Given the description of an element on the screen output the (x, y) to click on. 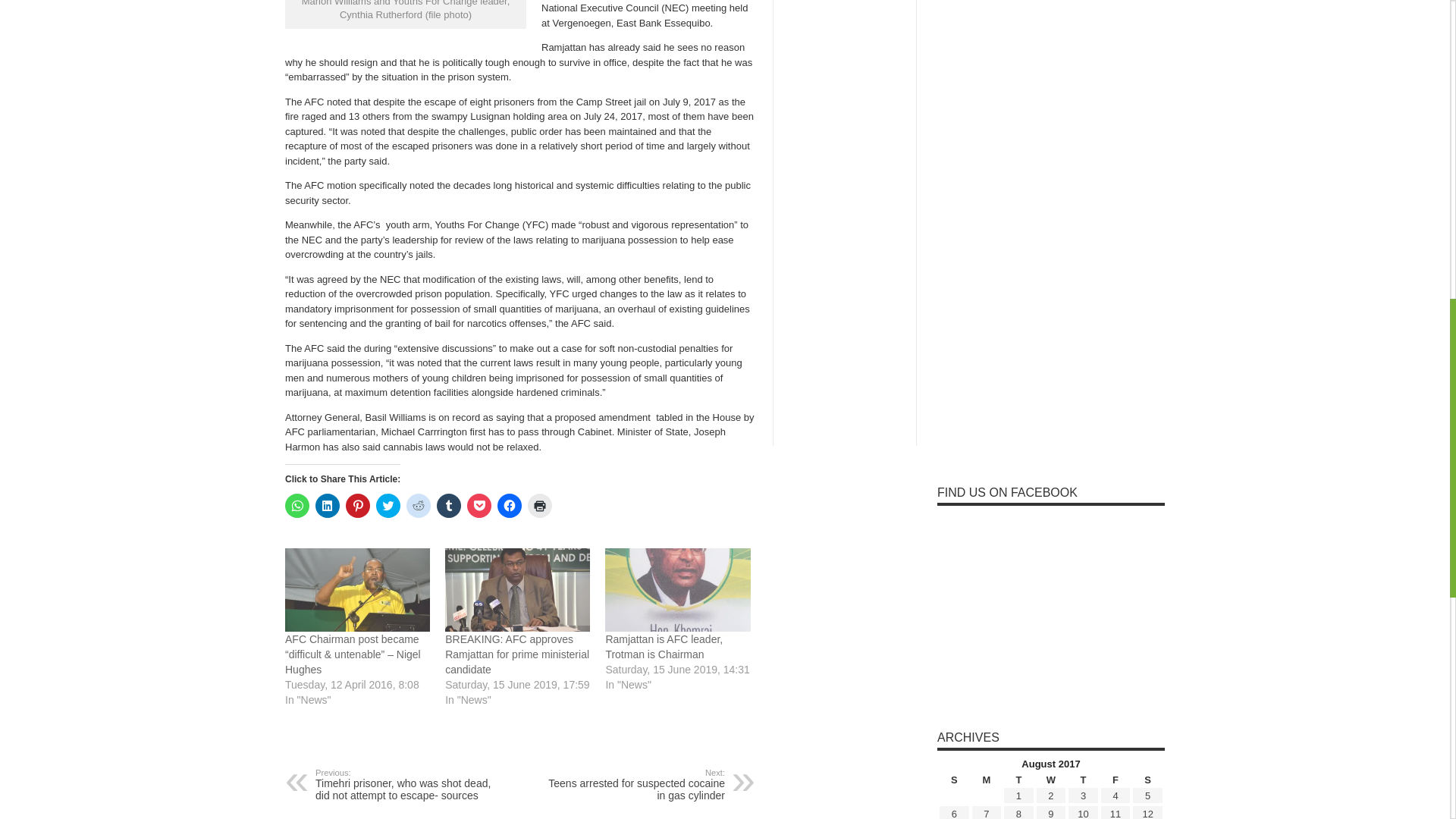
Click to share on Pinterest (357, 505)
Click to share on Pocket (479, 505)
Click to share on LinkedIn (327, 505)
Click to share on Tumblr (448, 505)
Click to share on Reddit (418, 505)
Click to print (539, 505)
Click to share on Twitter (387, 505)
Click to share on Facebook (509, 505)
Click to share on WhatsApp (296, 505)
